Given the description of an element on the screen output the (x, y) to click on. 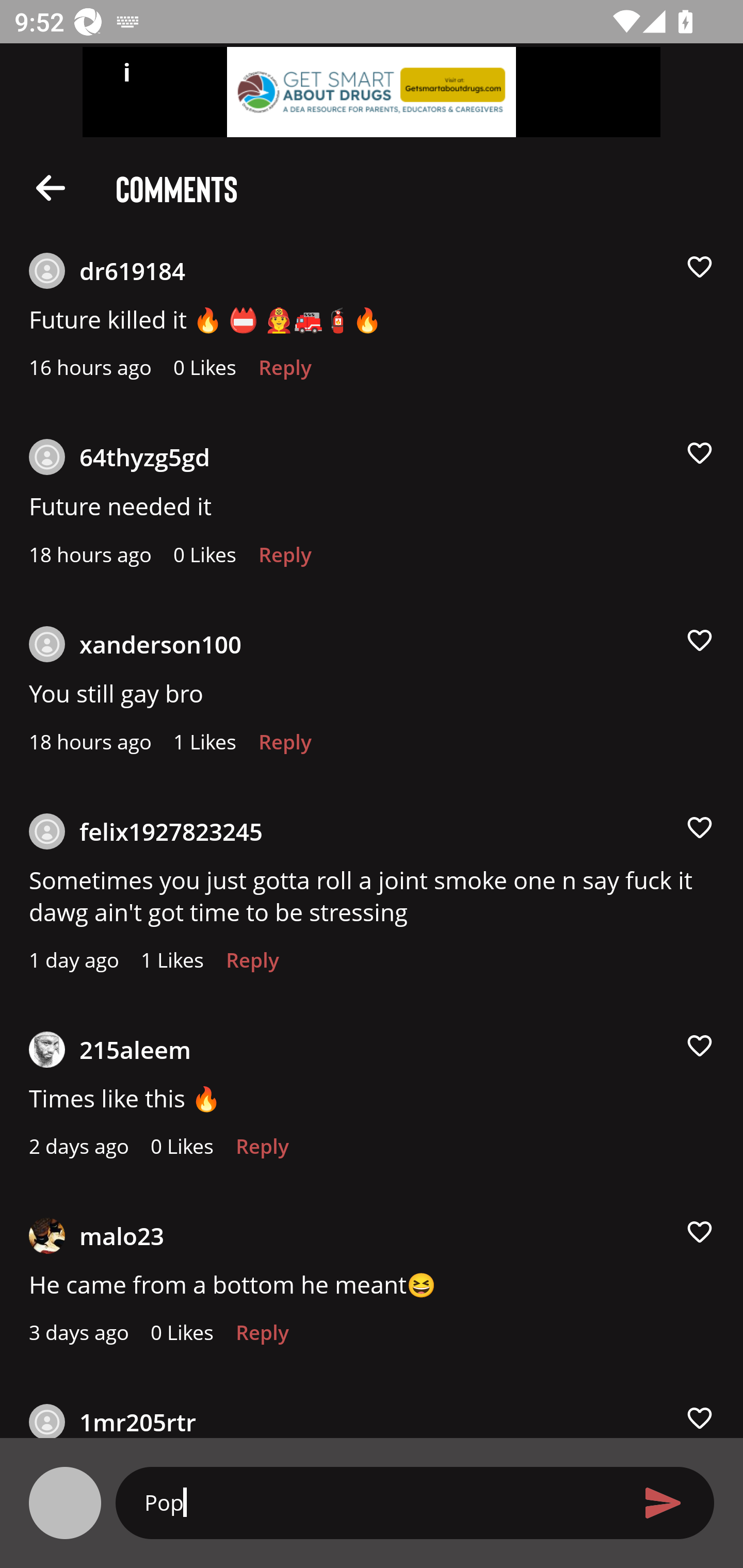
Description (50, 187)
Reply (285, 372)
Reply (285, 559)
Reply (285, 747)
Reply (252, 964)
Reply (261, 1151)
Reply (261, 1337)
Pop (378, 1502)
